Given the description of an element on the screen output the (x, y) to click on. 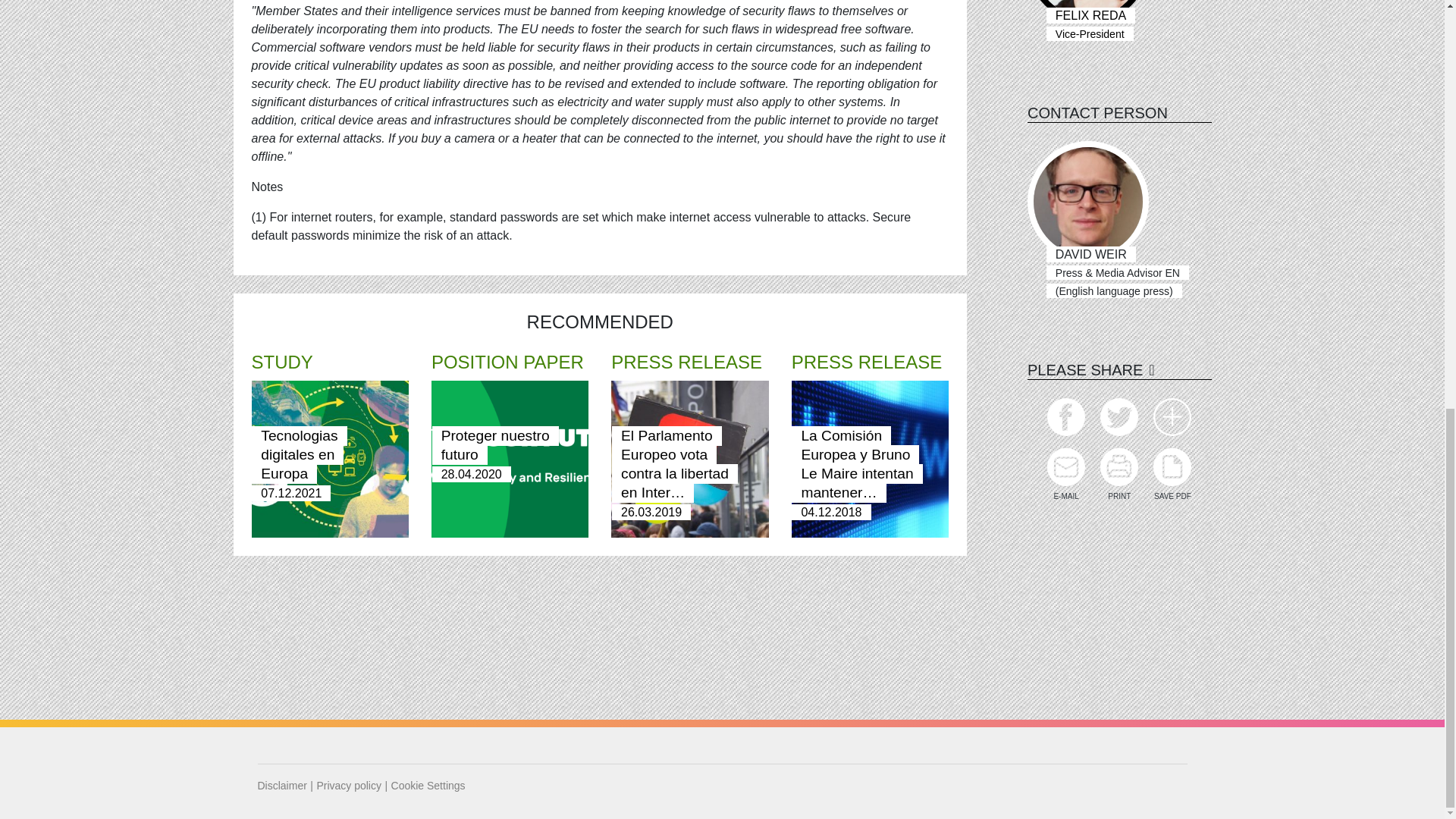
David Weir (1087, 201)
E-MAIL (1065, 474)
Proteger nuestro futuro (495, 445)
Disclaimer (282, 785)
PRINT (1119, 474)
Felix Reda (1087, 11)
SAVE PDF (1172, 474)
Tecnologias digitales en Europa (298, 455)
Cookie Settings (428, 785)
Privacy policy (348, 785)
